Given the description of an element on the screen output the (x, y) to click on. 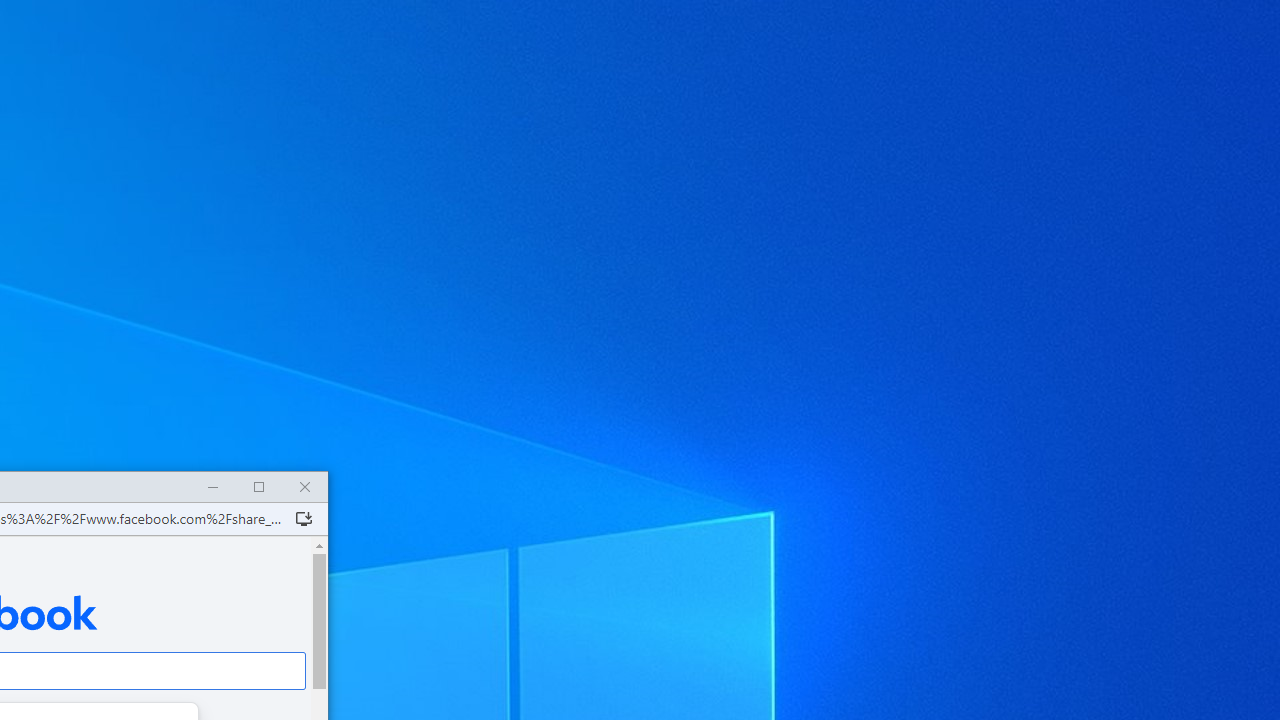
Maximize (258, 487)
Install Facebook (303, 518)
